Given the description of an element on the screen output the (x, y) to click on. 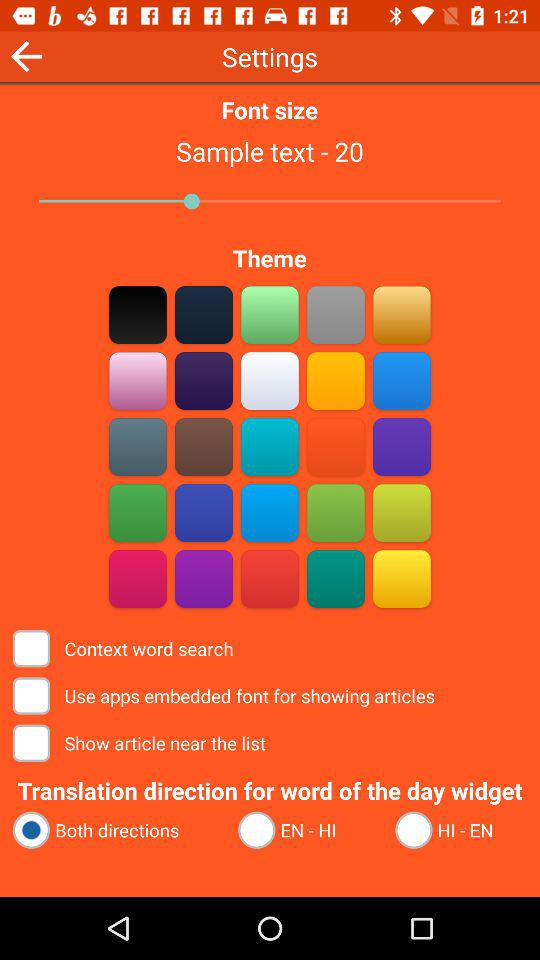
yellow (335, 380)
